Given the description of an element on the screen output the (x, y) to click on. 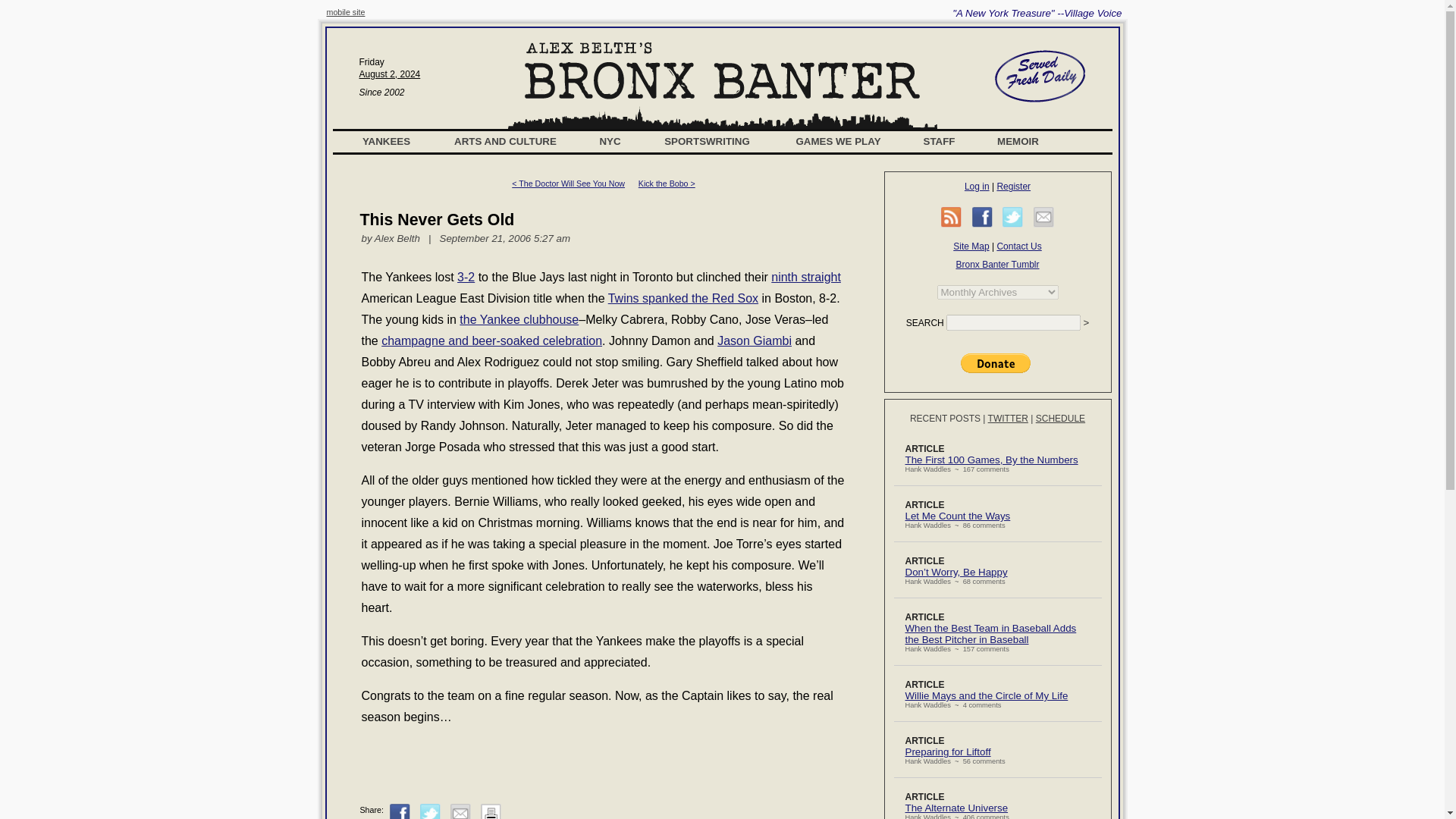
NYC (610, 141)
Share on Facebook (400, 811)
Permanent link to The Alternate Universe (957, 808)
YANKEES (386, 141)
ARTS AND CULTURE (504, 141)
Print This Post (490, 811)
Permanent link to The First 100 Games, By the Numbers (991, 460)
Permanent link to Preparing for Liftoff (948, 751)
Share via email (1043, 217)
Permanent link to Willie Mays and the Circle of My Life (986, 695)
Permanent link to Let Me Count the Ways (957, 515)
Subscription feed (950, 217)
mobile site (345, 11)
Print This Post (490, 817)
